Given the description of an element on the screen output the (x, y) to click on. 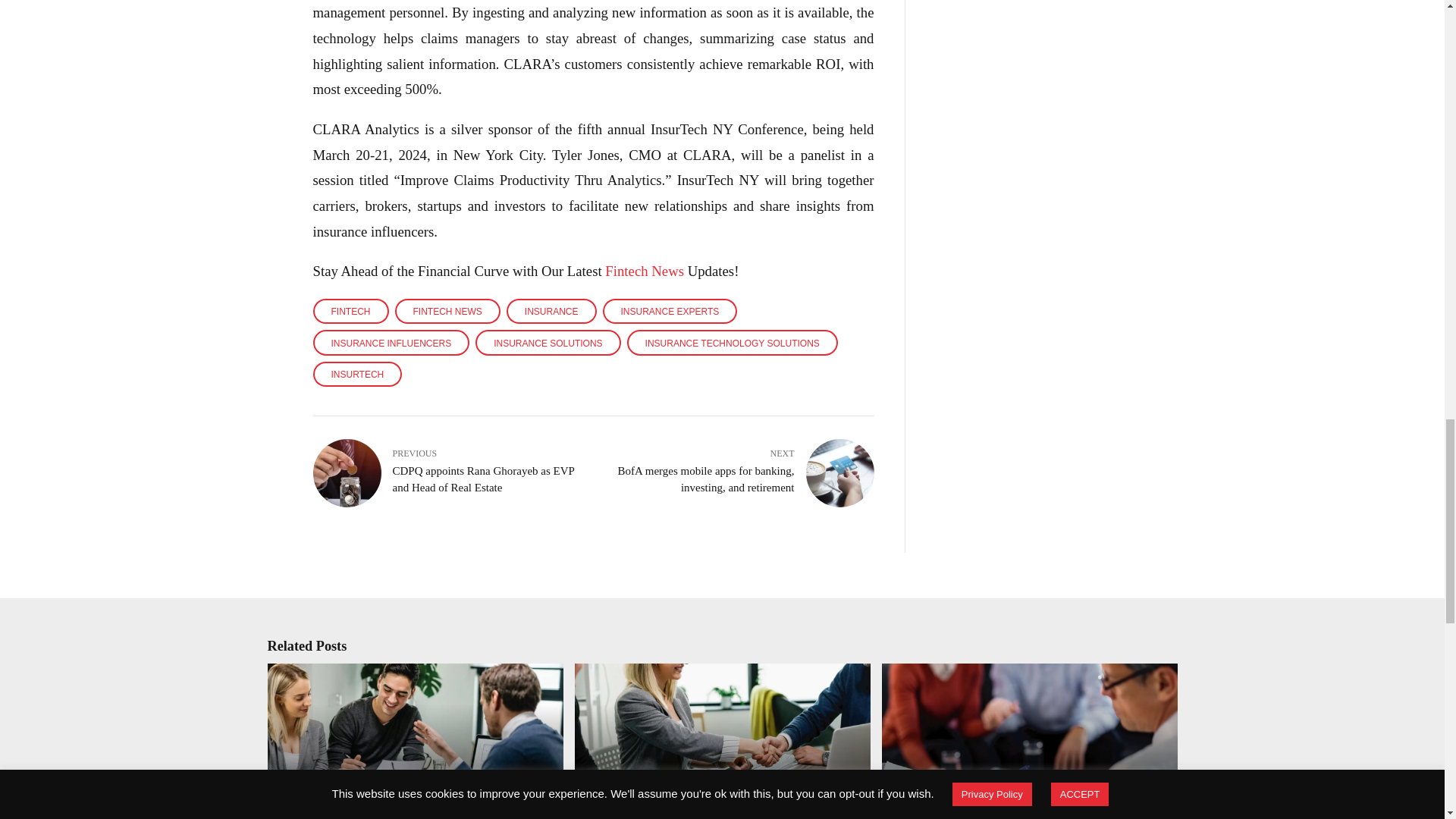
ATFX Launches Client Funds Insurance (708, 803)
ATFX Launches Client Funds Insurance (719, 741)
INSURANCE EXPERTS (670, 311)
FINTECH NEWS (446, 311)
NOW Insurance Ranks No. 9 In Insurance on the 2024 Inc. 5000 (412, 741)
NOW Insurance Ranks No. 9 In Insurance on the 2024 Inc. 5000 (407, 792)
INSURANCE (551, 311)
FINTECH (350, 311)
